Given the description of an element on the screen output the (x, y) to click on. 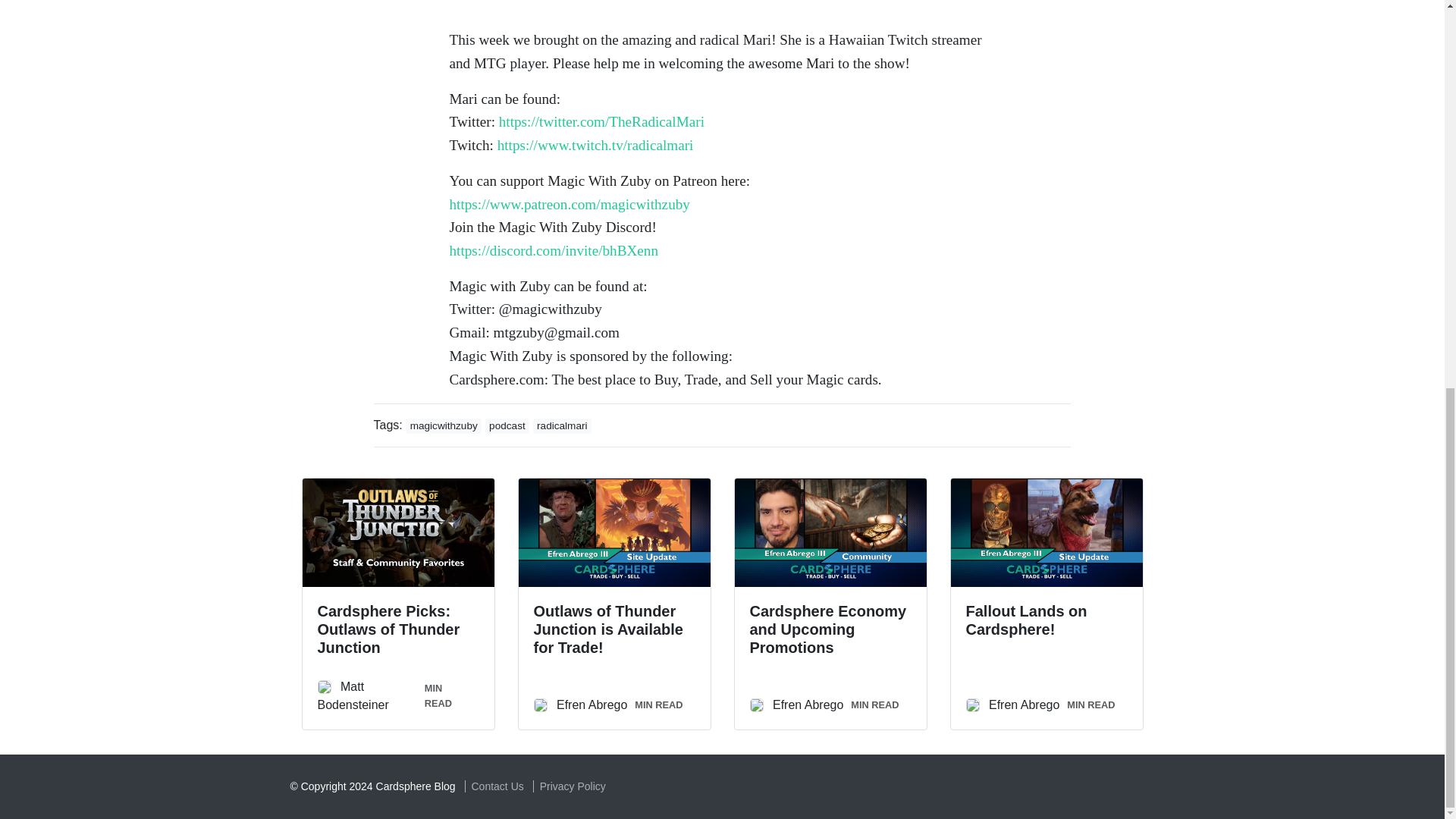
Efren Abrego (1023, 704)
Efren Abrego (591, 704)
Cardsphere Picks: Outlaws of Thunder Junction (388, 629)
podcast (506, 426)
Matt Bodensteiner (352, 695)
Cardsphere Economy and Upcoming Promotions (827, 629)
Outlaws of Thunder Junction is Available for Trade! (608, 629)
radicalmari (561, 426)
Efren Abrego (808, 704)
Fallout Lands on Cardsphere! (1026, 620)
magicwithzuby (443, 426)
